Given the description of an element on the screen output the (x, y) to click on. 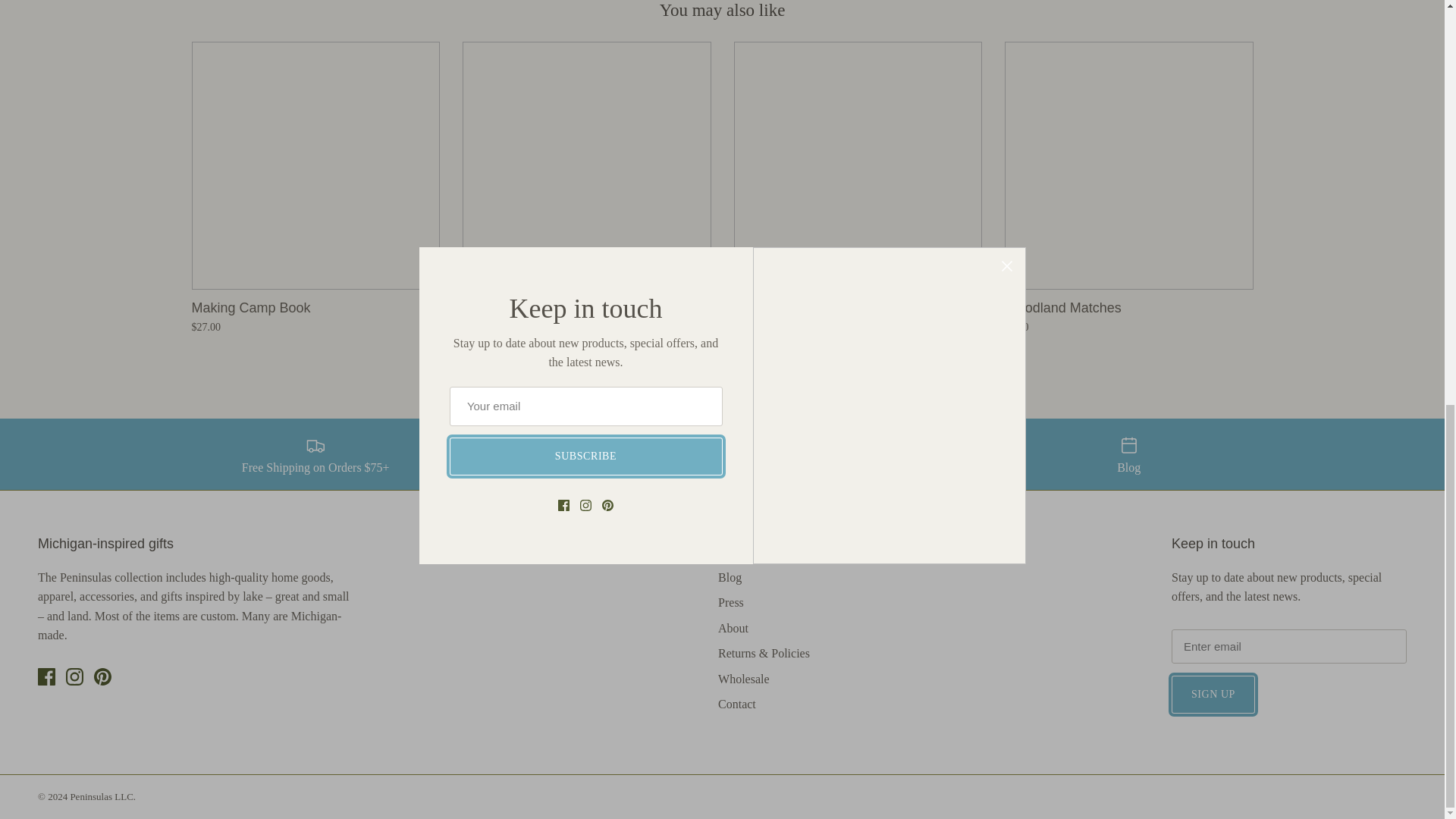
Pinterest (103, 676)
Facebook (46, 676)
Instagram (73, 676)
